Given the description of an element on the screen output the (x, y) to click on. 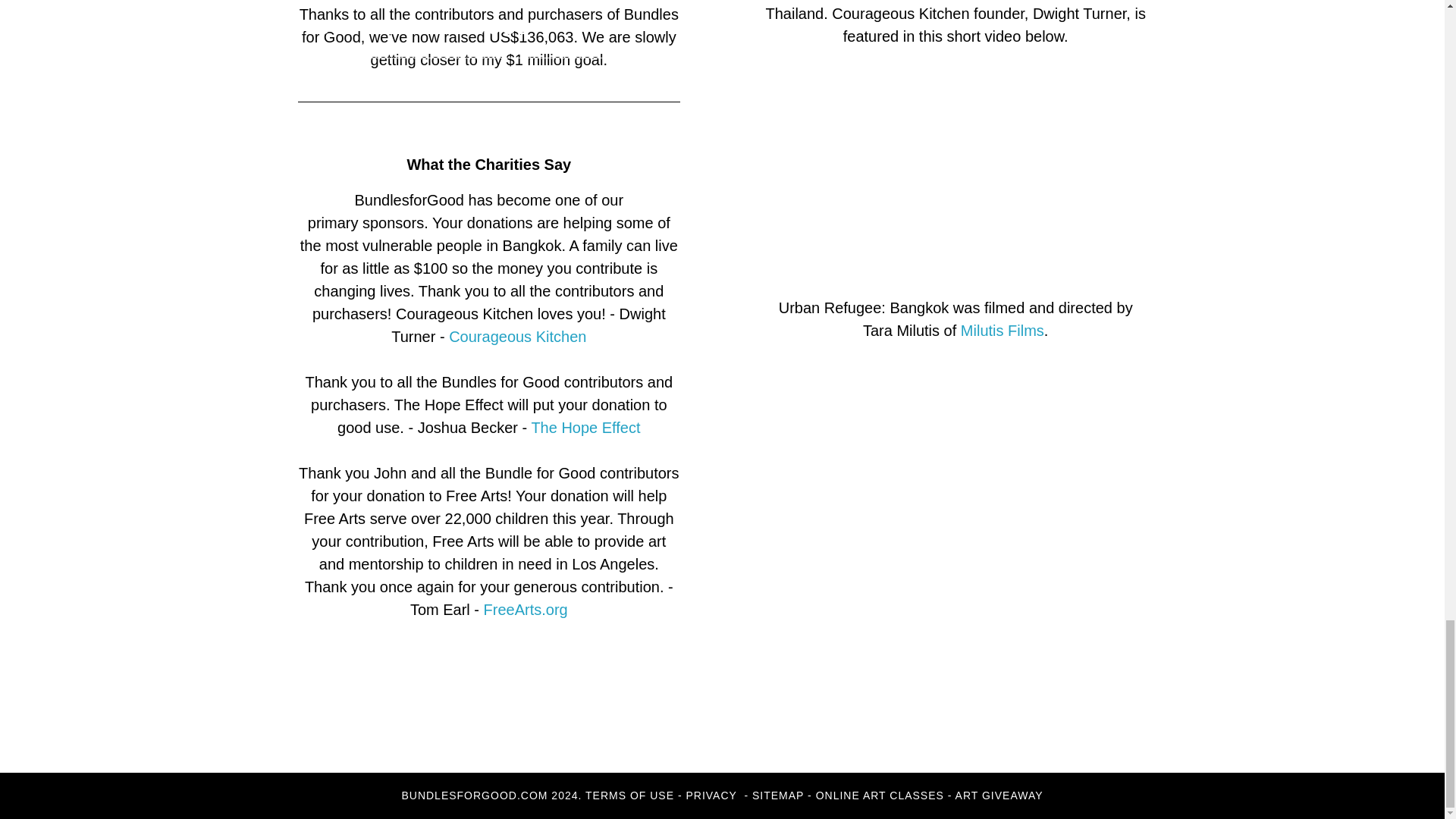
The Hope Effect (585, 427)
FreeArts.org (525, 609)
Courageous Kitchen (517, 336)
ONLINE ART CLASSES (93, 751)
PRIVACY  (712, 795)
TERMS OF USE (629, 795)
ART GIVEAWAY (261, 751)
ONLINE ART CLASSES (879, 795)
Milutis Films (1001, 330)
ART GIVEAWAY (999, 795)
SITEMAP (777, 795)
